Given the description of an element on the screen output the (x, y) to click on. 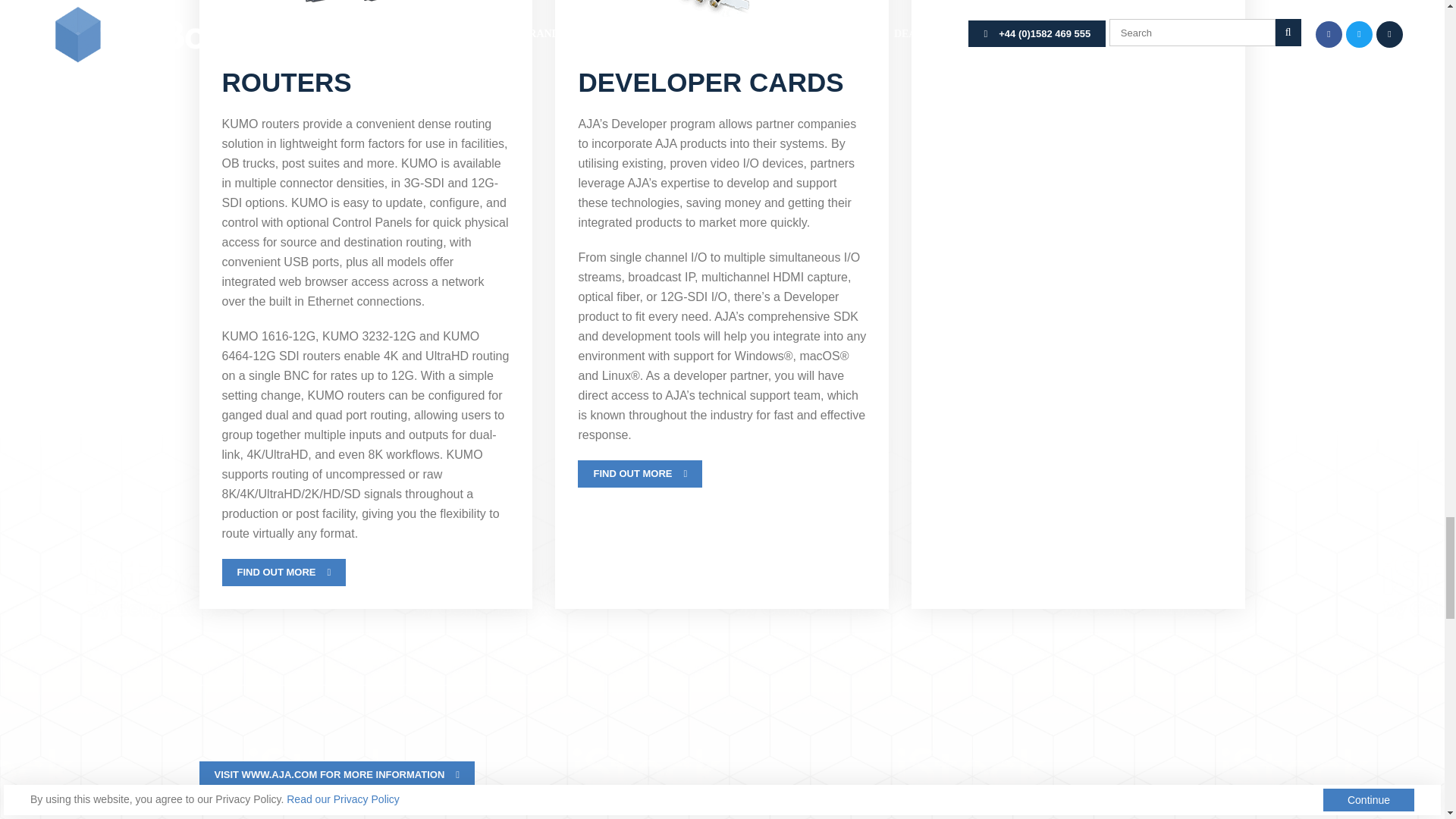
FIND OUT MORE (639, 473)
FIND OUT MORE (283, 572)
VISIT WWW.AJA.COM FOR MORE INFORMATION (336, 774)
